Given the description of an element on the screen output the (x, y) to click on. 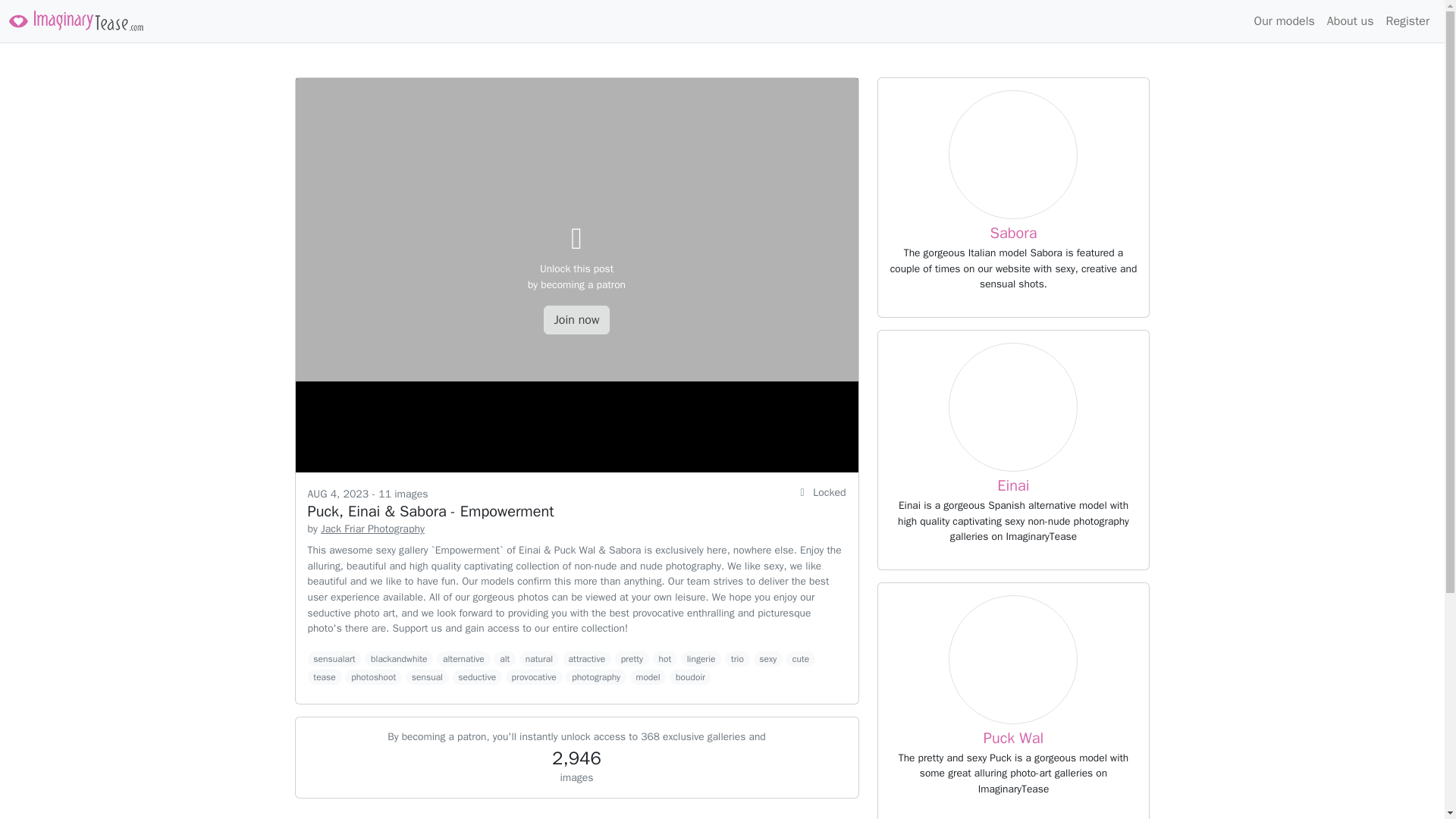
Jack Friar Photography (1406, 20)
About us (372, 528)
Sabora (1350, 20)
Sabora's sexy photo's on ImaginaryTease (1013, 232)
Einai's sexy photo's on ImaginaryTease (1013, 154)
Einai (1013, 407)
Puck Wal's sexy photo's on ImaginaryTease (1013, 485)
Our models (1013, 659)
